Given the description of an element on the screen output the (x, y) to click on. 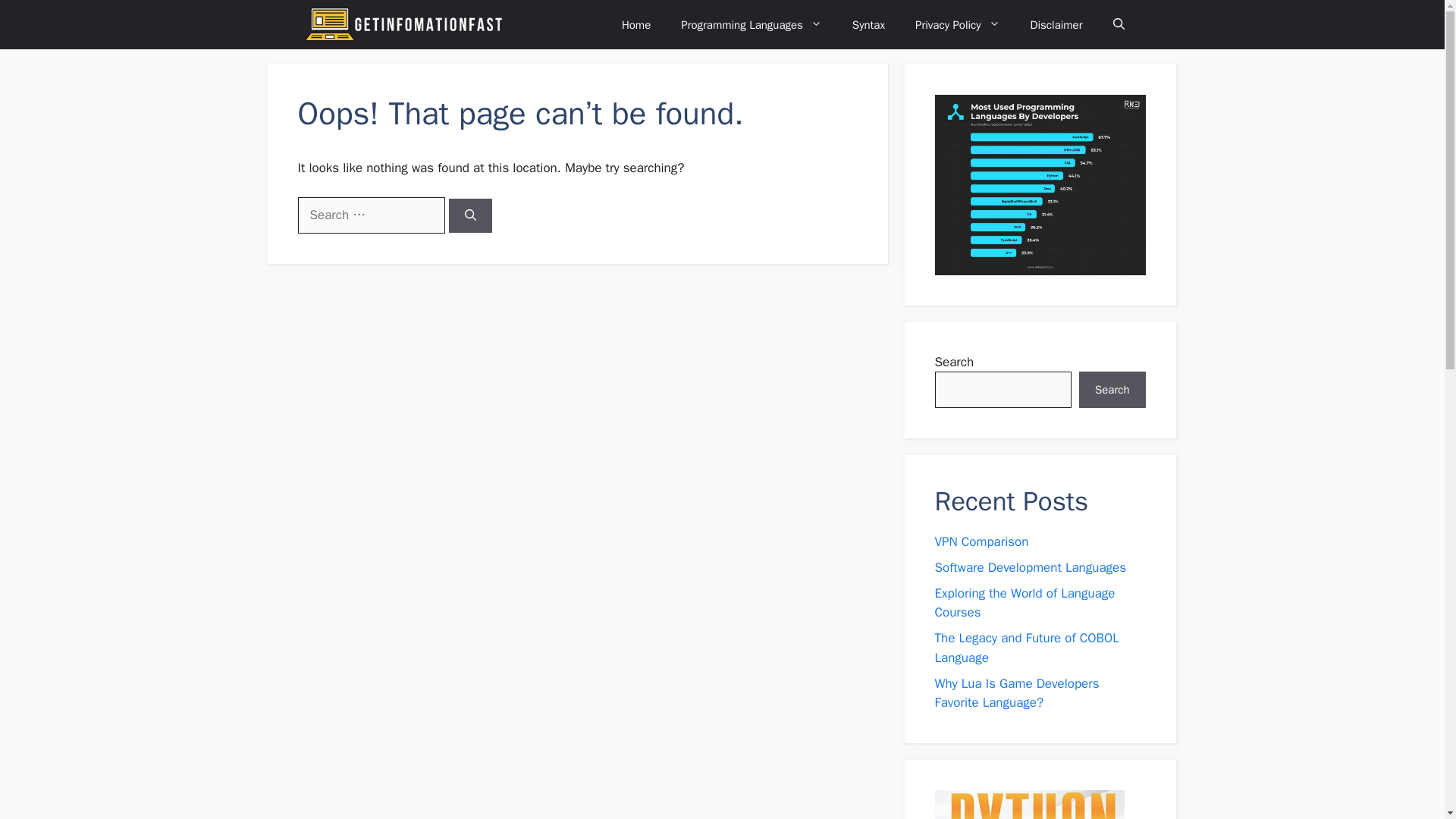
Home (636, 23)
GetInfomationFast (414, 24)
VPN Comparison (980, 541)
The Legacy and Future of COBOL Language (1026, 647)
Disclaimer (1055, 23)
Search for: (370, 215)
Search (1111, 389)
Software Development Languages (1029, 567)
Exploring the World of Language Courses (1024, 602)
Programming Languages (751, 23)
Syntax (868, 23)
Privacy Policy (956, 23)
Why Lua Is Game Developers Favorite Language? (1016, 693)
